Given the description of an element on the screen output the (x, y) to click on. 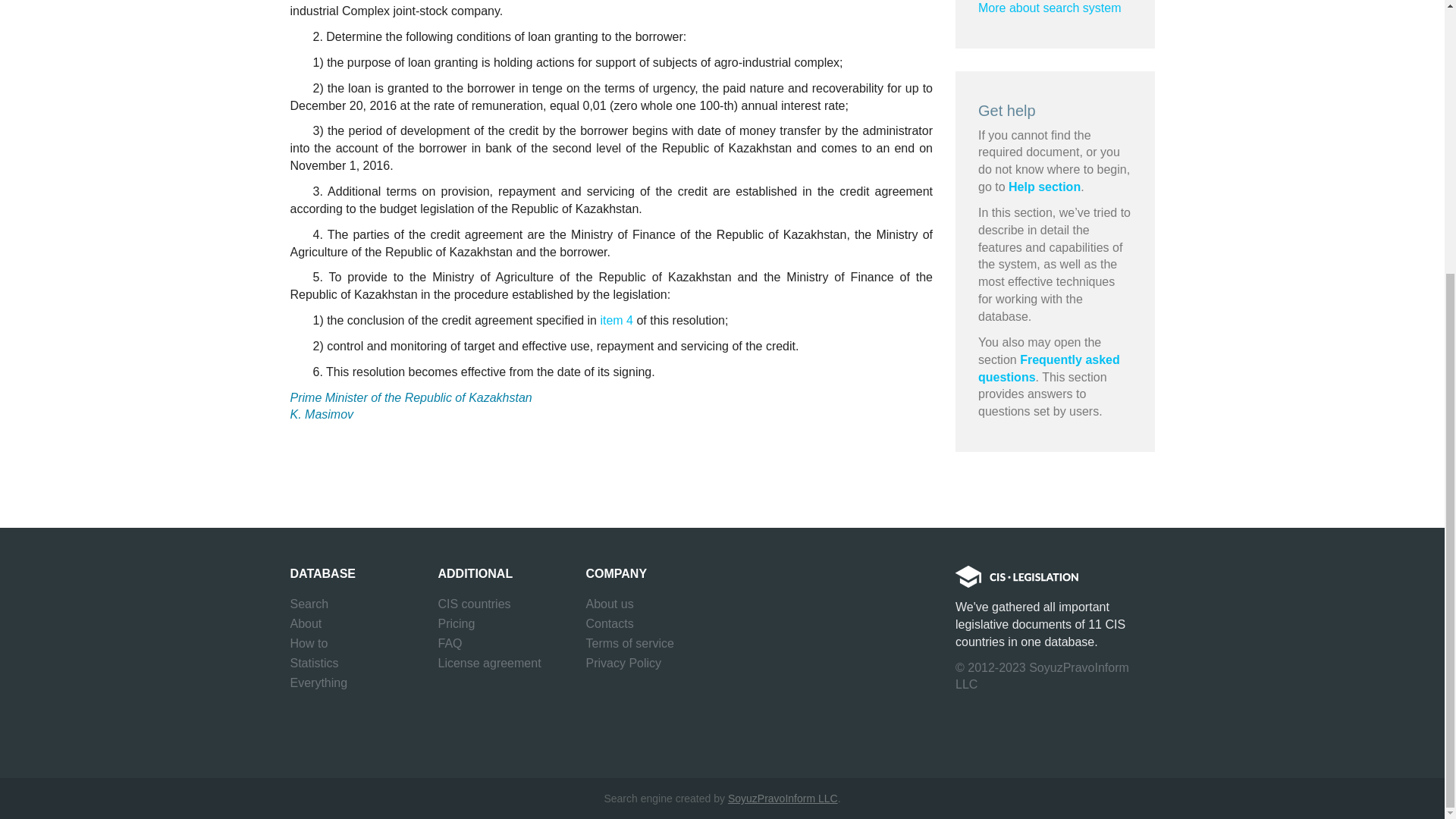
Privacy Policy (623, 663)
Statistics (313, 663)
License agreement (489, 663)
FAQ (450, 643)
About us (609, 604)
Pricing (457, 623)
SoyuzPravoInform LLC (783, 798)
item 4 (616, 319)
More about search system (1049, 7)
CIS countries (474, 604)
Help section (1044, 186)
Frequently asked questions (1048, 368)
Everything (318, 682)
Search (309, 604)
Terms of service (628, 643)
